Given the description of an element on the screen output the (x, y) to click on. 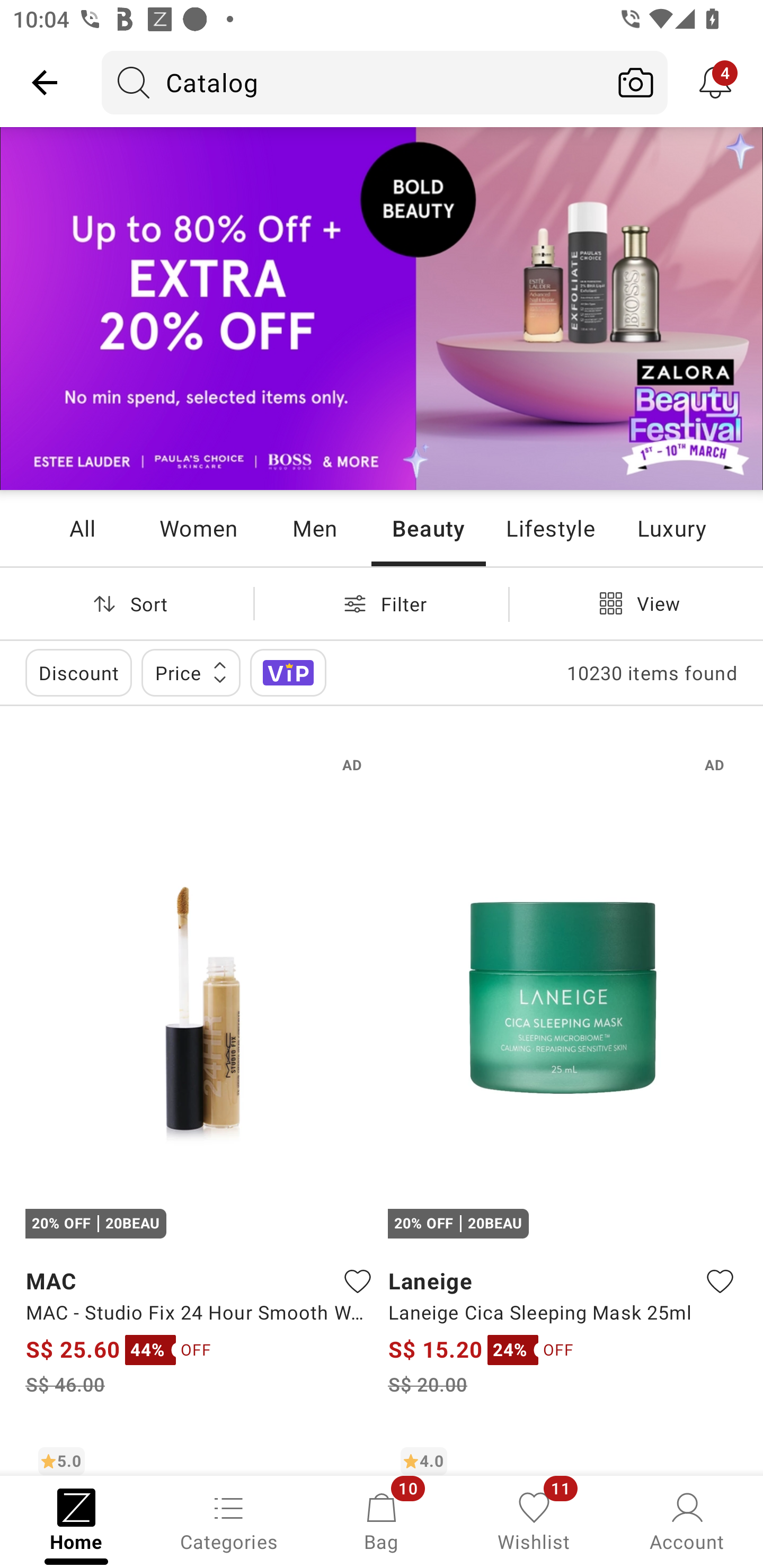
Navigate up (44, 82)
Catalog (352, 82)
All (82, 527)
Women (198, 527)
Men (314, 527)
Lifestyle (550, 527)
Luxury (671, 527)
Sort (126, 603)
Filter (381, 603)
View (636, 603)
Discount (78, 672)
Price (190, 672)
Categories (228, 1519)
Bag, 10 new notifications Bag (381, 1519)
Wishlist, 11 new notifications Wishlist (533, 1519)
Account (686, 1519)
